Given the description of an element on the screen output the (x, y) to click on. 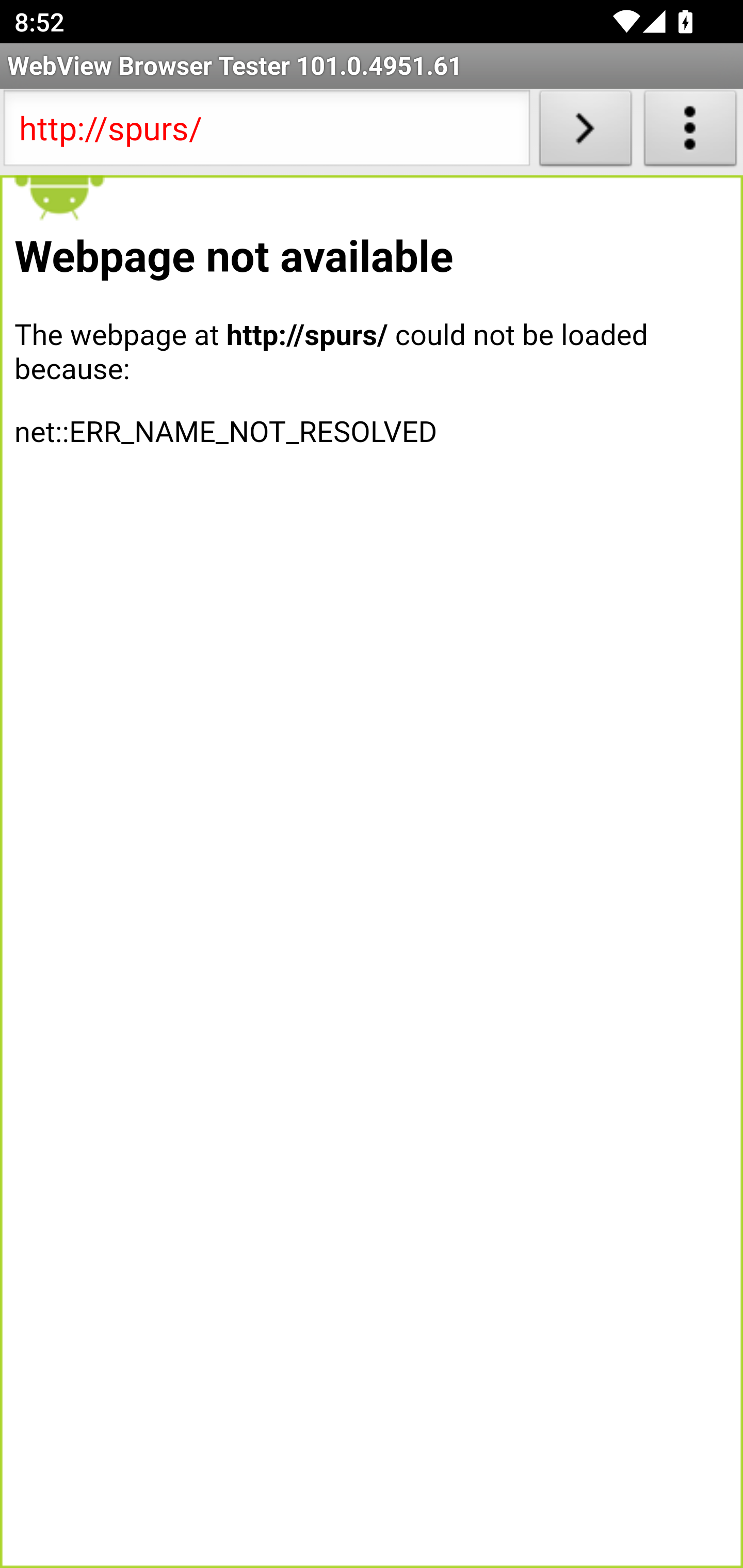
http://spurs/ (266, 132)
Load URL (585, 132)
About WebView (690, 132)
